Given the description of an element on the screen output the (x, y) to click on. 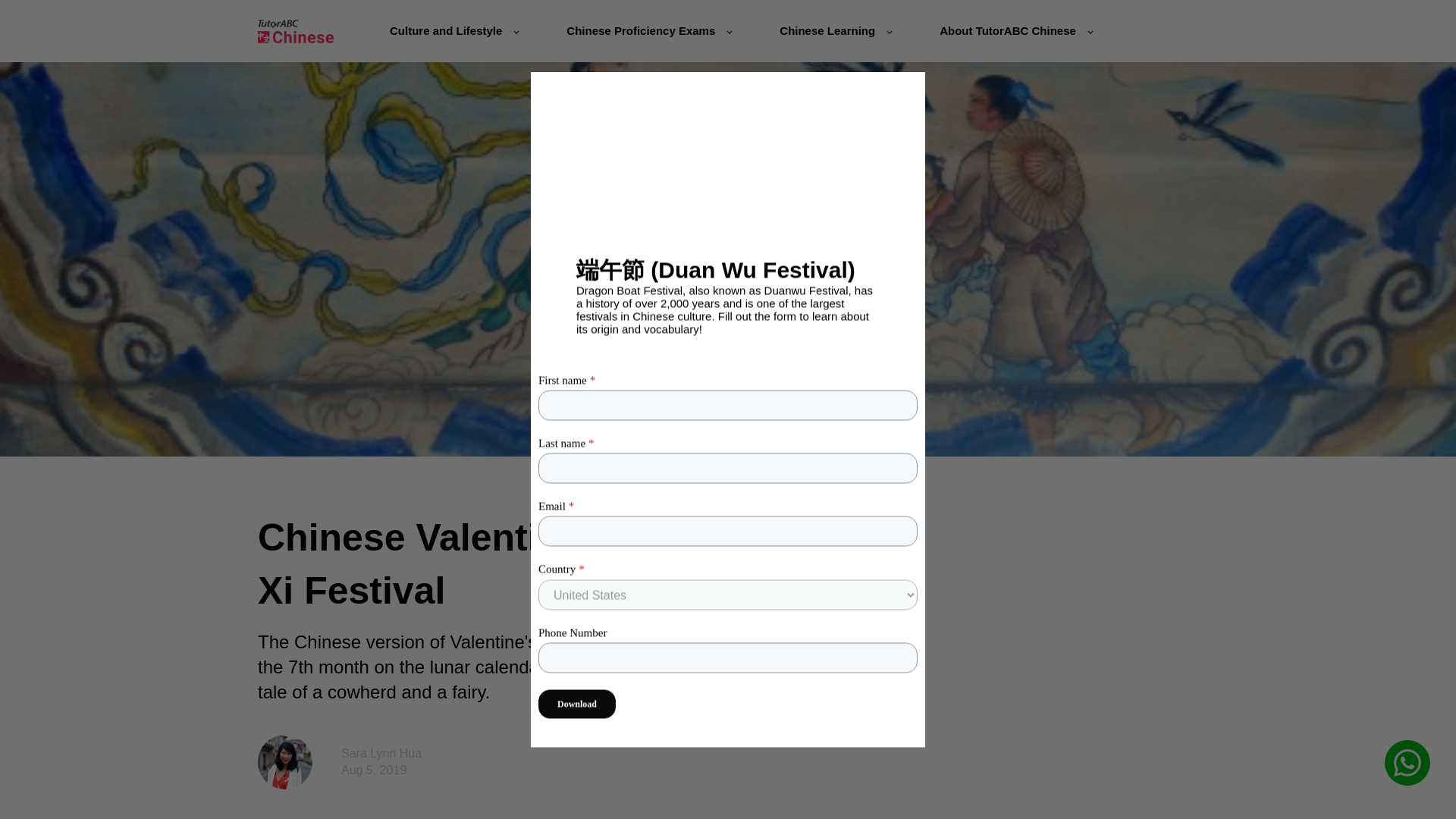
Chinese Learning (834, 30)
Sara Lynn Hua (381, 753)
Contact us on WhatsApp (1406, 762)
Culture and Lifestyle (454, 30)
About TutorABC Chinese (1015, 30)
Chinese Proficiency Exams (648, 30)
